Given the description of an element on the screen output the (x, y) to click on. 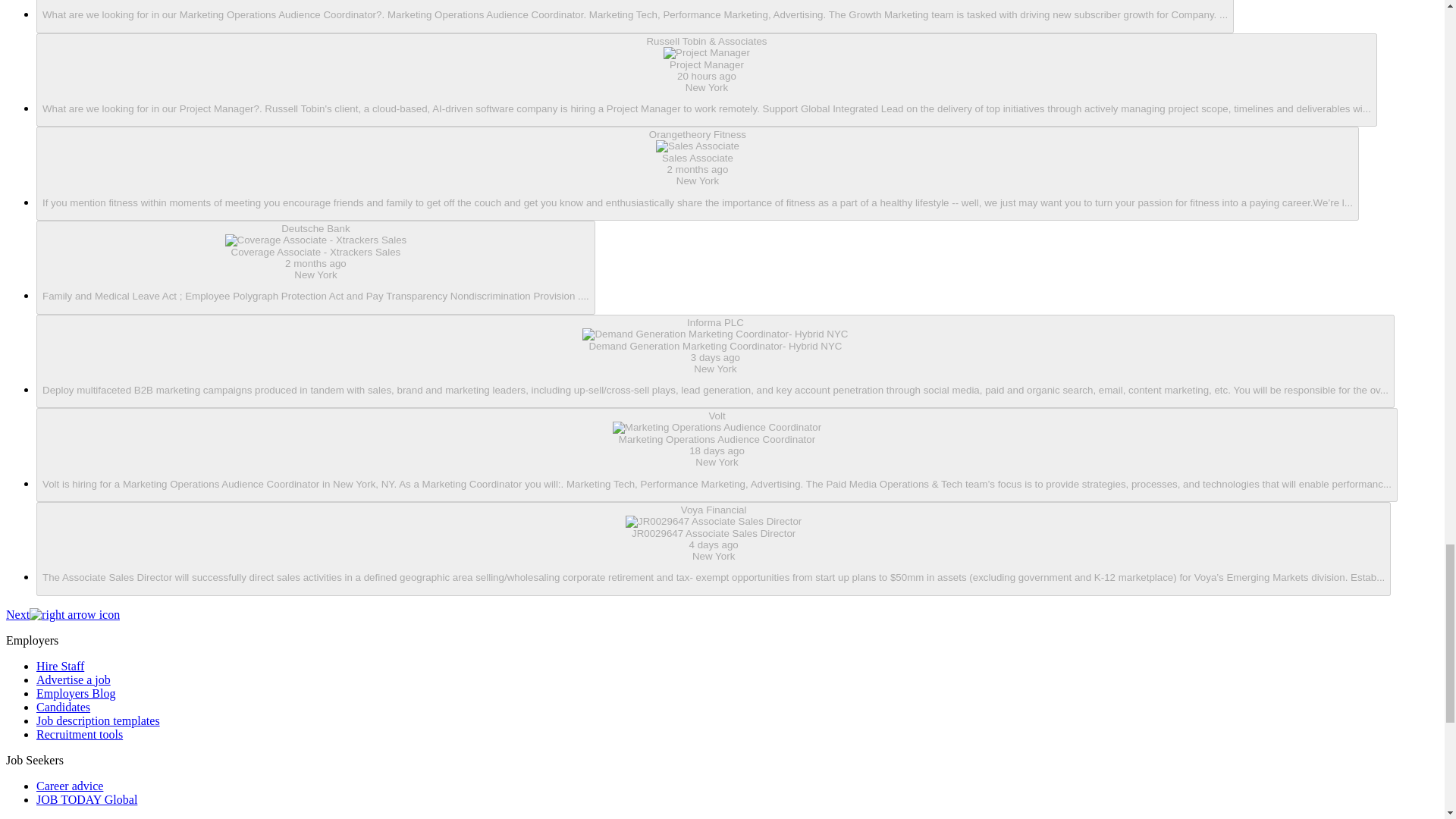
Employers Blog (75, 693)
Advertise a job (73, 679)
Recruitment tools (79, 734)
Next (62, 614)
Hire Staff (60, 666)
Candidates (63, 707)
Job description templates (98, 720)
Career advice (69, 785)
